Given the description of an element on the screen output the (x, y) to click on. 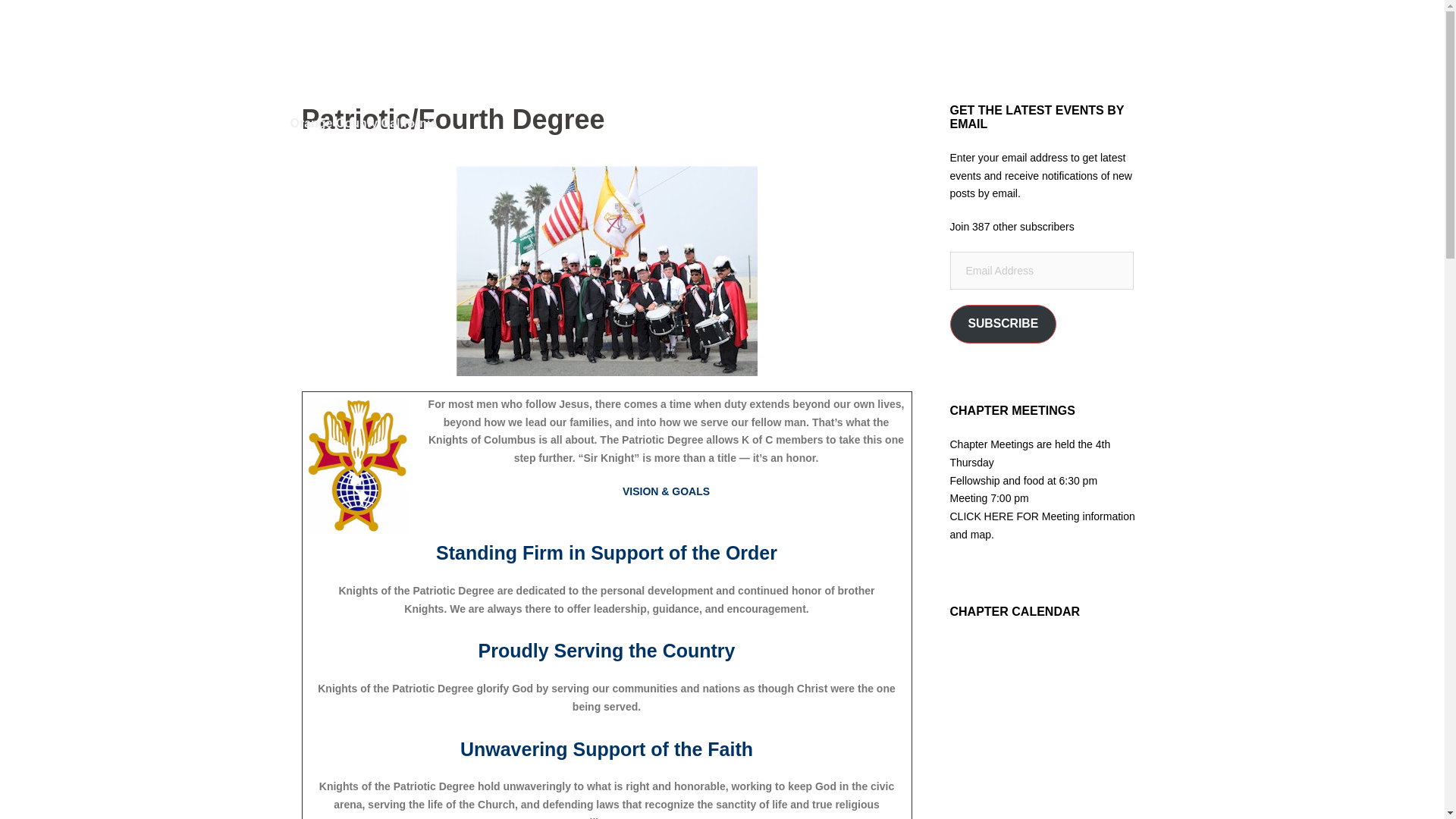
About Us (617, 65)
july42011 (607, 270)
Knights of Columbus Orange County Chapter (412, 58)
Exemplifications (870, 65)
What We Do (690, 65)
Members Only (776, 65)
Officers Information (976, 65)
